Given the description of an element on the screen output the (x, y) to click on. 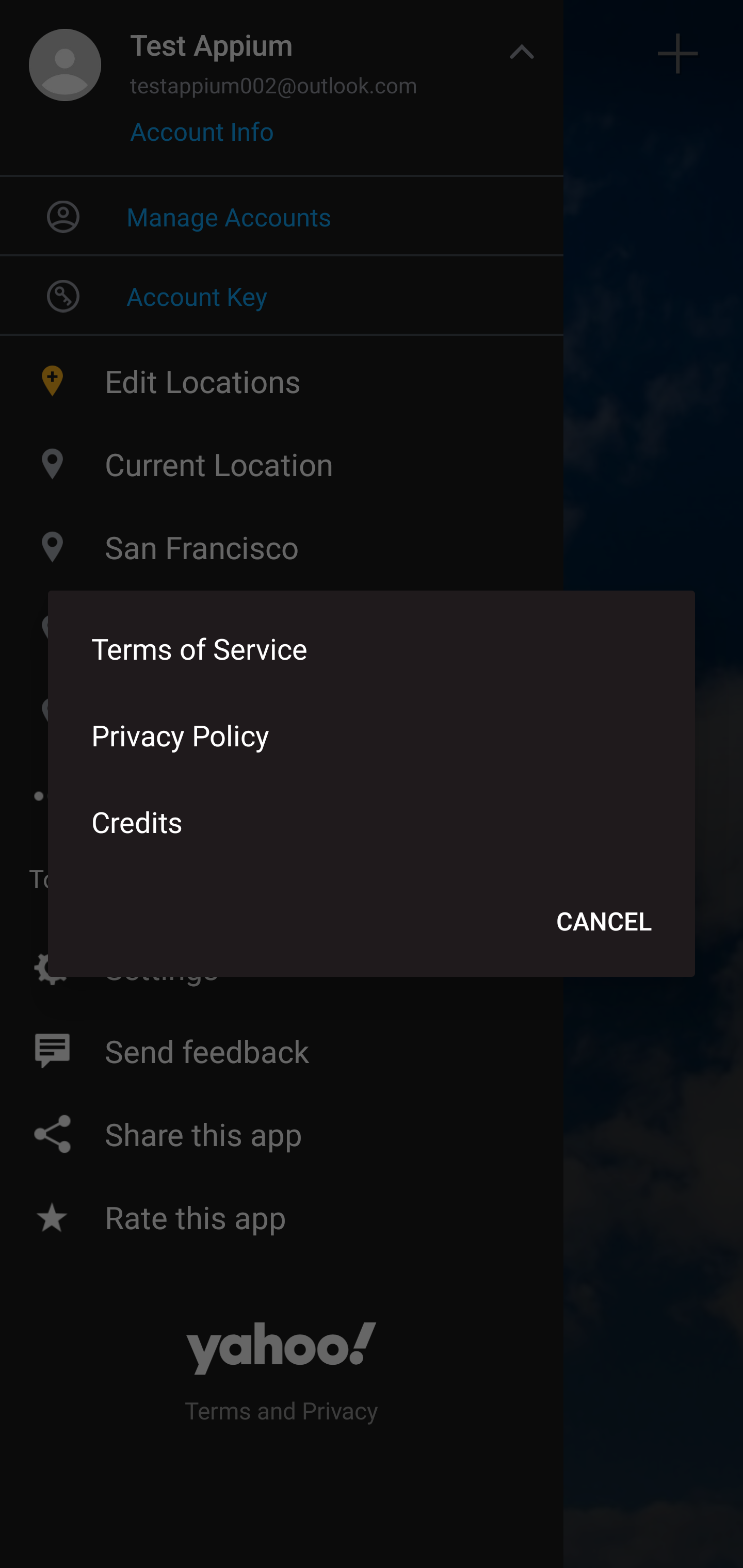
Terms of Service (371, 648)
Privacy Policy (371, 734)
Credits (371, 821)
CANCEL (603, 920)
